Given the description of an element on the screen output the (x, y) to click on. 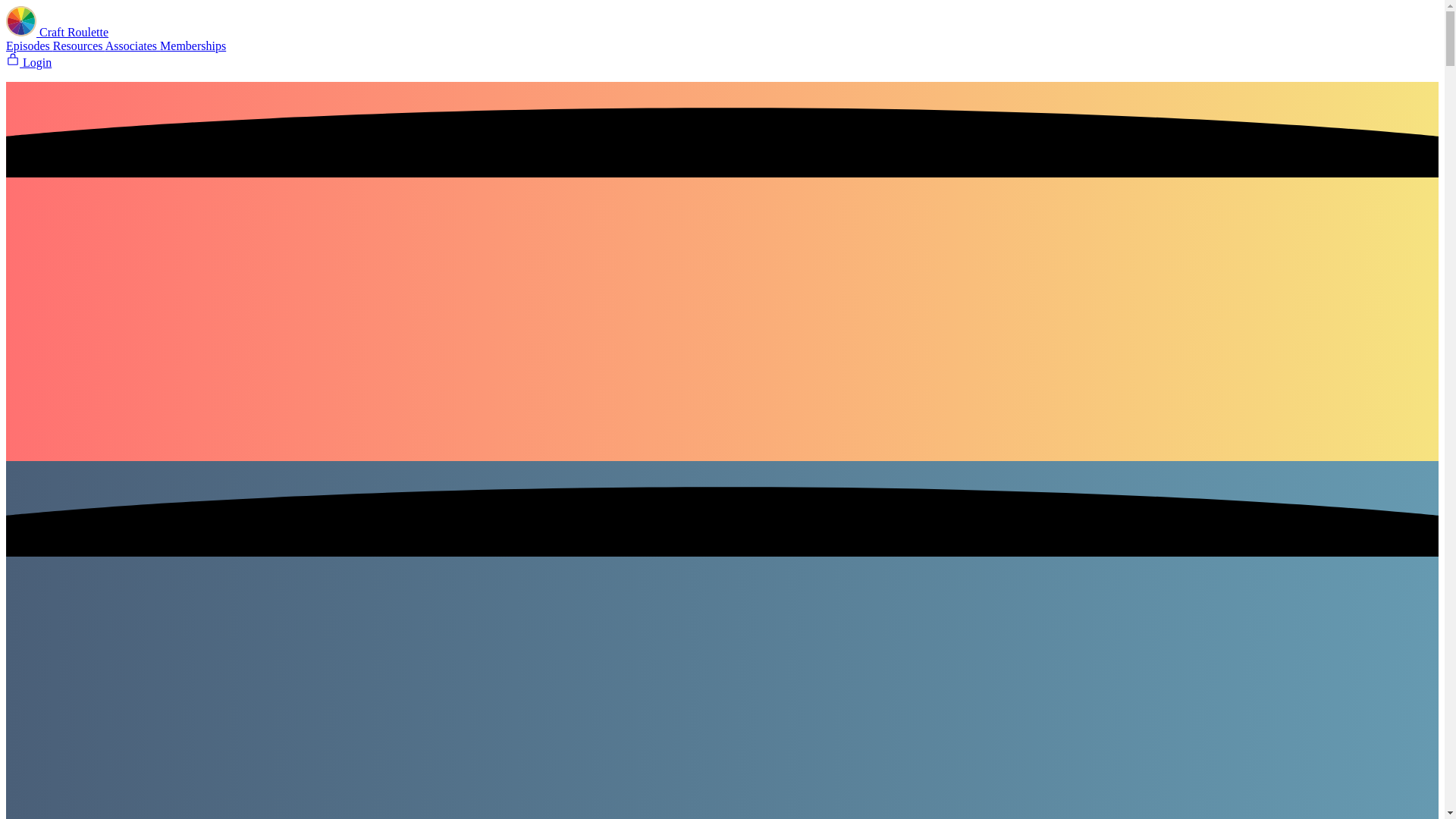
Resources (78, 45)
Associates (132, 45)
Episodes (28, 45)
Login (27, 62)
Craft Roulette (56, 31)
Memberships (192, 45)
